Given the description of an element on the screen output the (x, y) to click on. 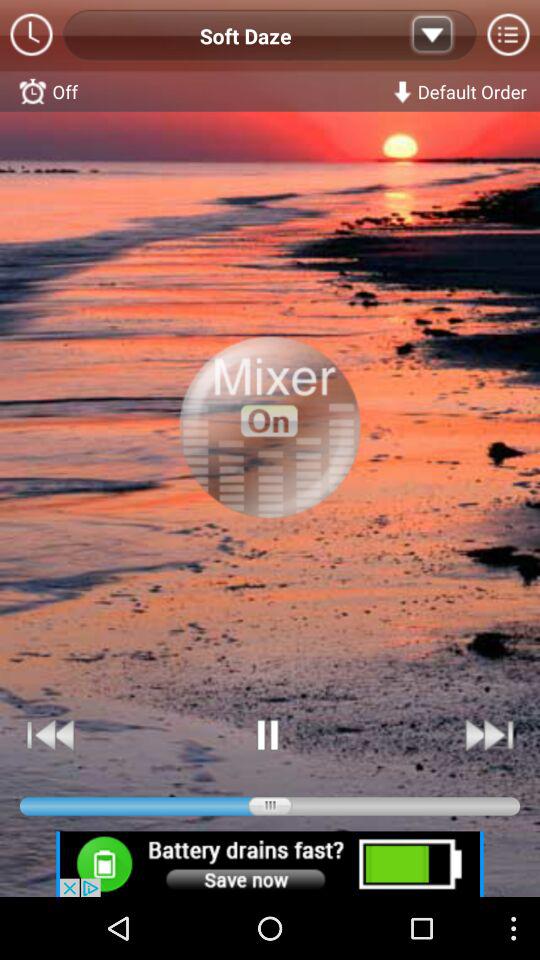
select the on option (269, 448)
